Given the description of an element on the screen output the (x, y) to click on. 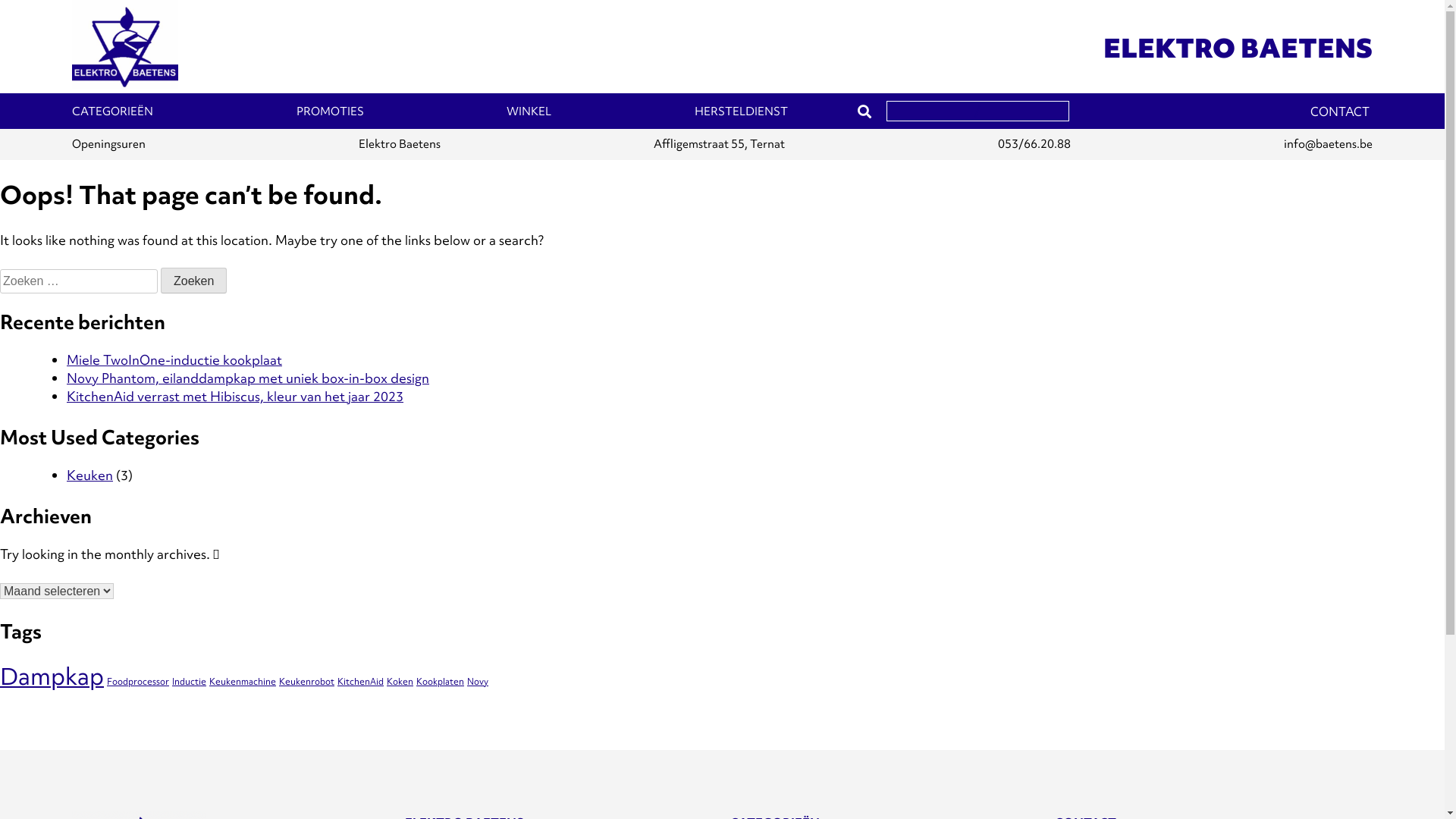
Inductie Element type: text (189, 681)
HERSTELDIENST Element type: text (740, 111)
Koken Element type: text (399, 681)
Keukenrobot Element type: text (306, 681)
Foodprocessor Element type: text (137, 681)
KitchenAid verrast met Hibiscus, kleur van het jaar 2023 Element type: text (234, 395)
Keukenmachine Element type: text (242, 681)
053/66.20.88 Element type: text (1033, 144)
CONTACT Element type: text (1339, 111)
Affligemstraat 55, Ternat Element type: text (718, 144)
ELEKTRO BAETENS Element type: text (1237, 47)
Zoeken Element type: text (193, 280)
KitchenAid Element type: text (360, 681)
Novy Phantom, eilanddampkap met uniek box-in-box design Element type: text (247, 377)
Kookplaten Element type: text (440, 681)
Dampkap Element type: text (51, 676)
WINKEL Element type: text (528, 111)
Miele TwoInOne-inductie kookplaat Element type: text (174, 359)
Openingsuren Element type: text (108, 144)
Novy Element type: text (477, 681)
PROMOTIES Element type: text (330, 111)
/ Element type: text (977, 110)
Keuken Element type: text (89, 474)
info@baetens.be Element type: text (1327, 144)
